Given the description of an element on the screen output the (x, y) to click on. 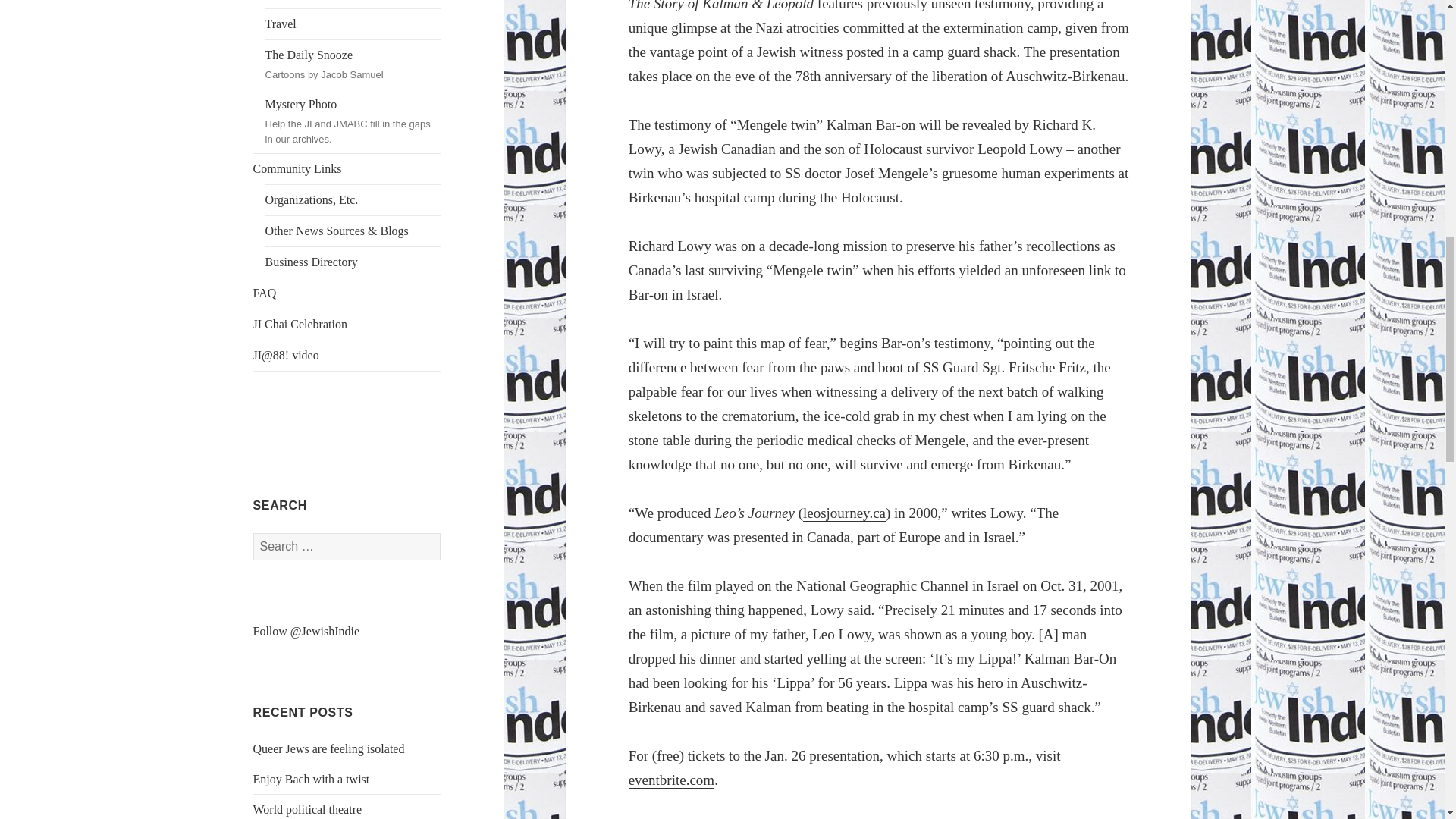
FAQ (347, 293)
JI Chai Celebration (352, 64)
Search (347, 324)
Community Links (352, 4)
Search (347, 168)
Travel (352, 200)
Business Directory (352, 24)
Search (352, 262)
World political theatre (328, 748)
Enjoy Bach with a twist (307, 809)
